Given the description of an element on the screen output the (x, y) to click on. 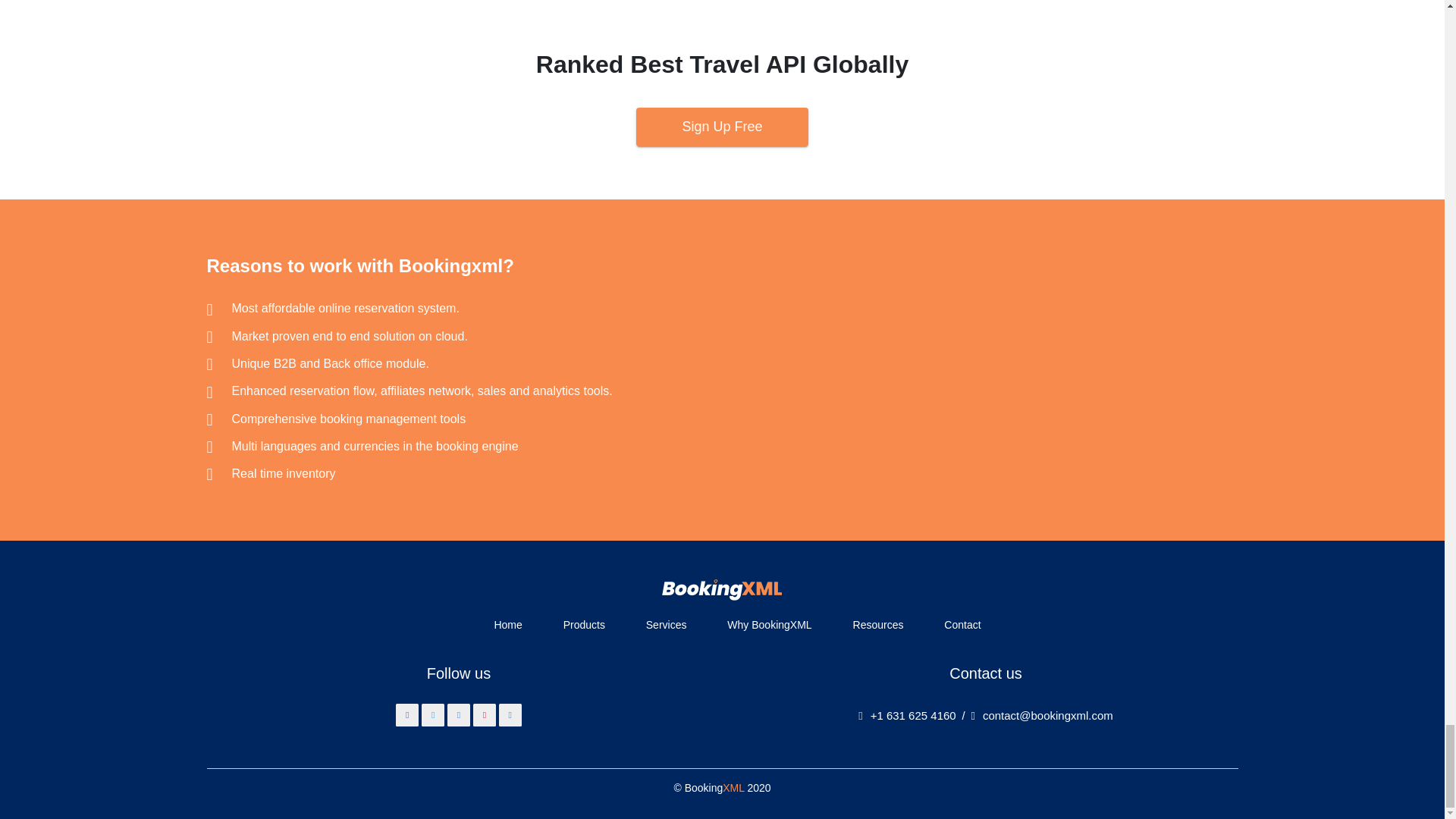
Facebook (407, 714)
Twitter (433, 714)
instagram (510, 714)
Linkedin (458, 714)
